Given the description of an element on the screen output the (x, y) to click on. 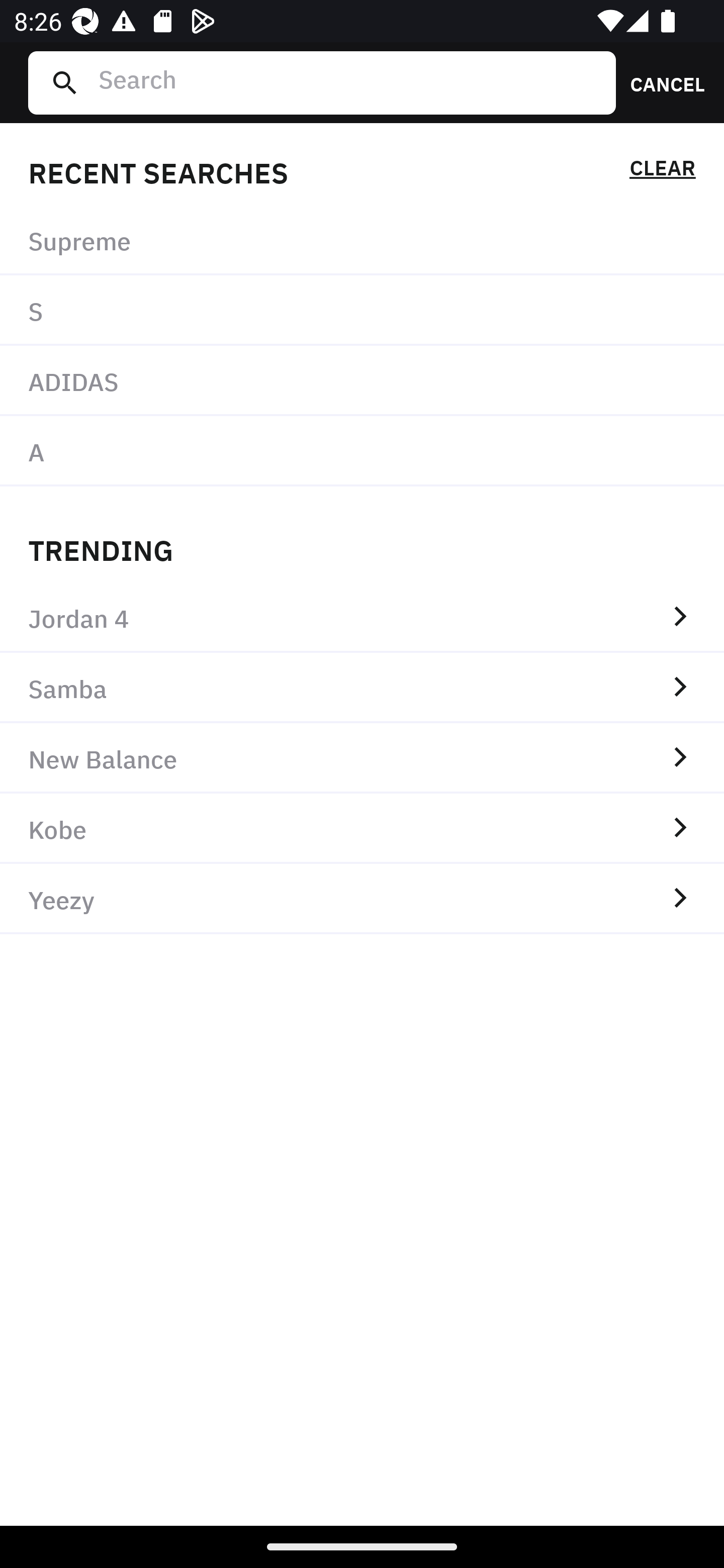
CANCEL (660, 82)
Search (349, 82)
CLEAR (662, 170)
Supreme (362, 240)
S (362, 310)
ADIDAS (362, 380)
A (362, 450)
Jordan 4  (362, 616)
Samba  (362, 687)
New Balance  (362, 757)
Kobe  (362, 828)
Yeezy  (362, 898)
